Given the description of an element on the screen output the (x, y) to click on. 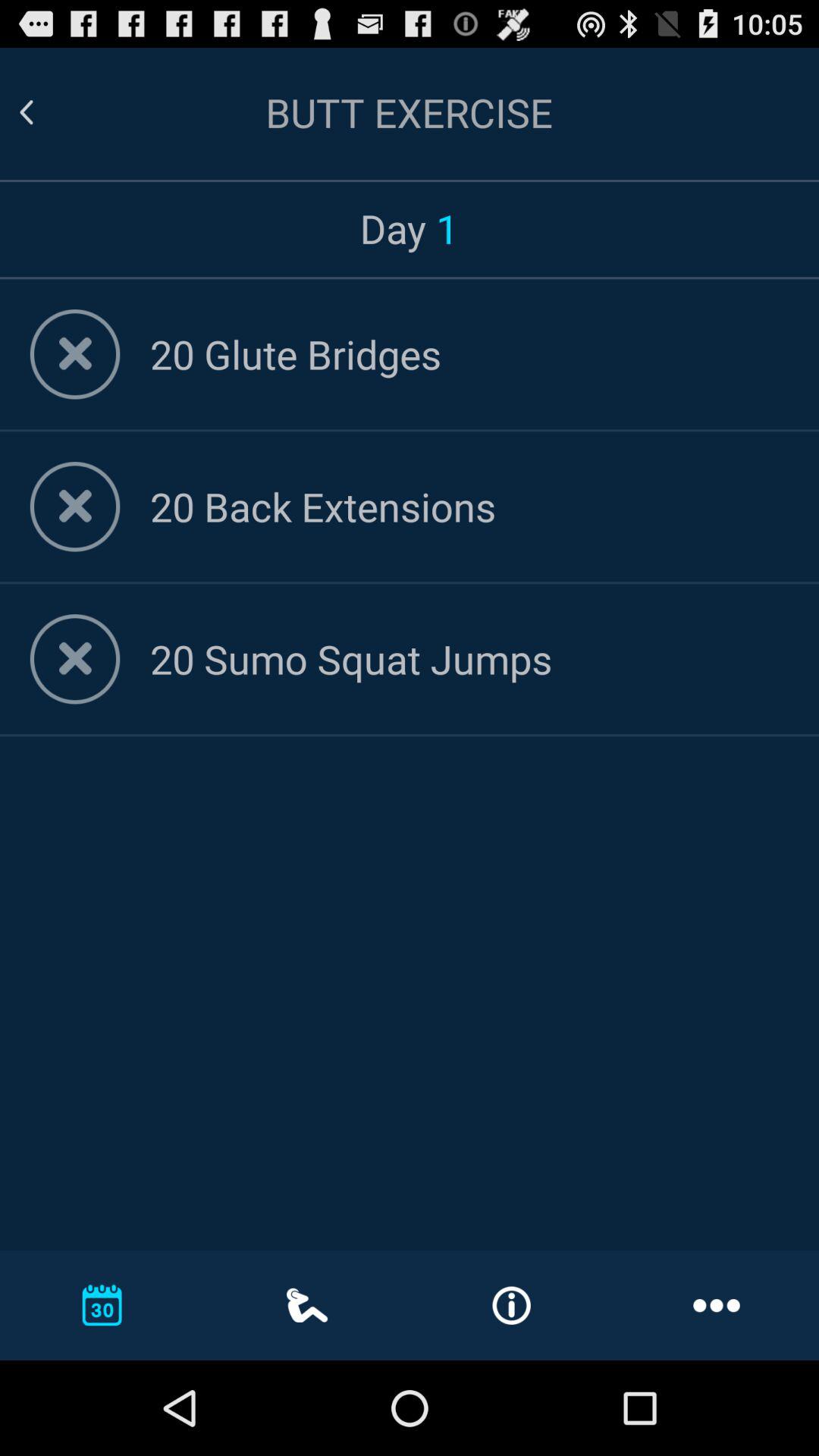
launch the app above the 20 sumo squat (469, 506)
